Given the description of an element on the screen output the (x, y) to click on. 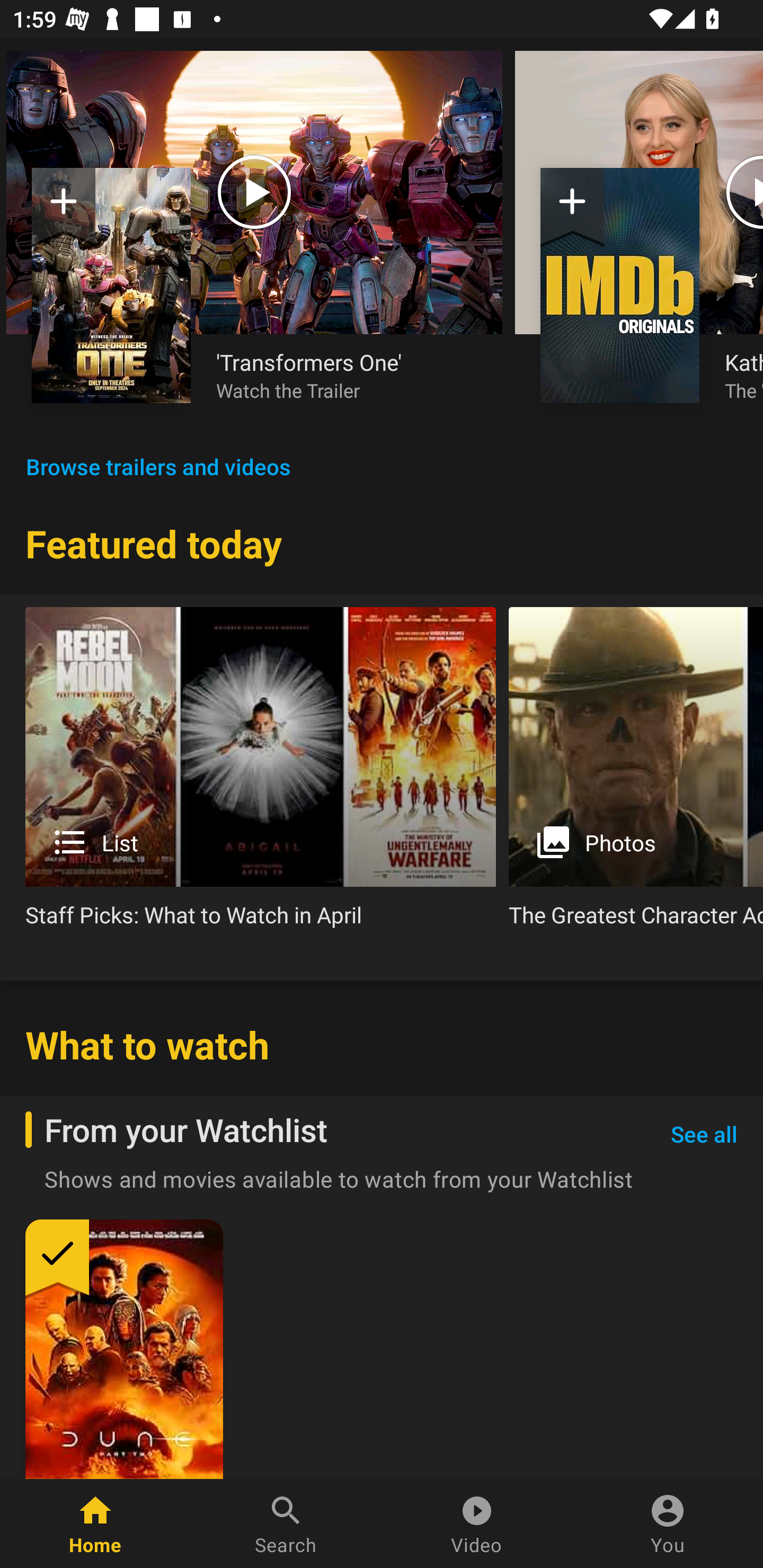
Not in watchlist (111, 284)
Not in watchlist (63, 207)
Not in watchlist (619, 284)
Not in watchlist (572, 207)
'Transformers One' Watch the Trailer (345, 374)
List Staff Picks: What to Watch in April (260, 774)
Photos The Greatest Character Actors of All Time (635, 774)
See all See all From your Watchlist (703, 1134)
Search (285, 1523)
Video (476, 1523)
You (667, 1523)
